Given the description of an element on the screen output the (x, y) to click on. 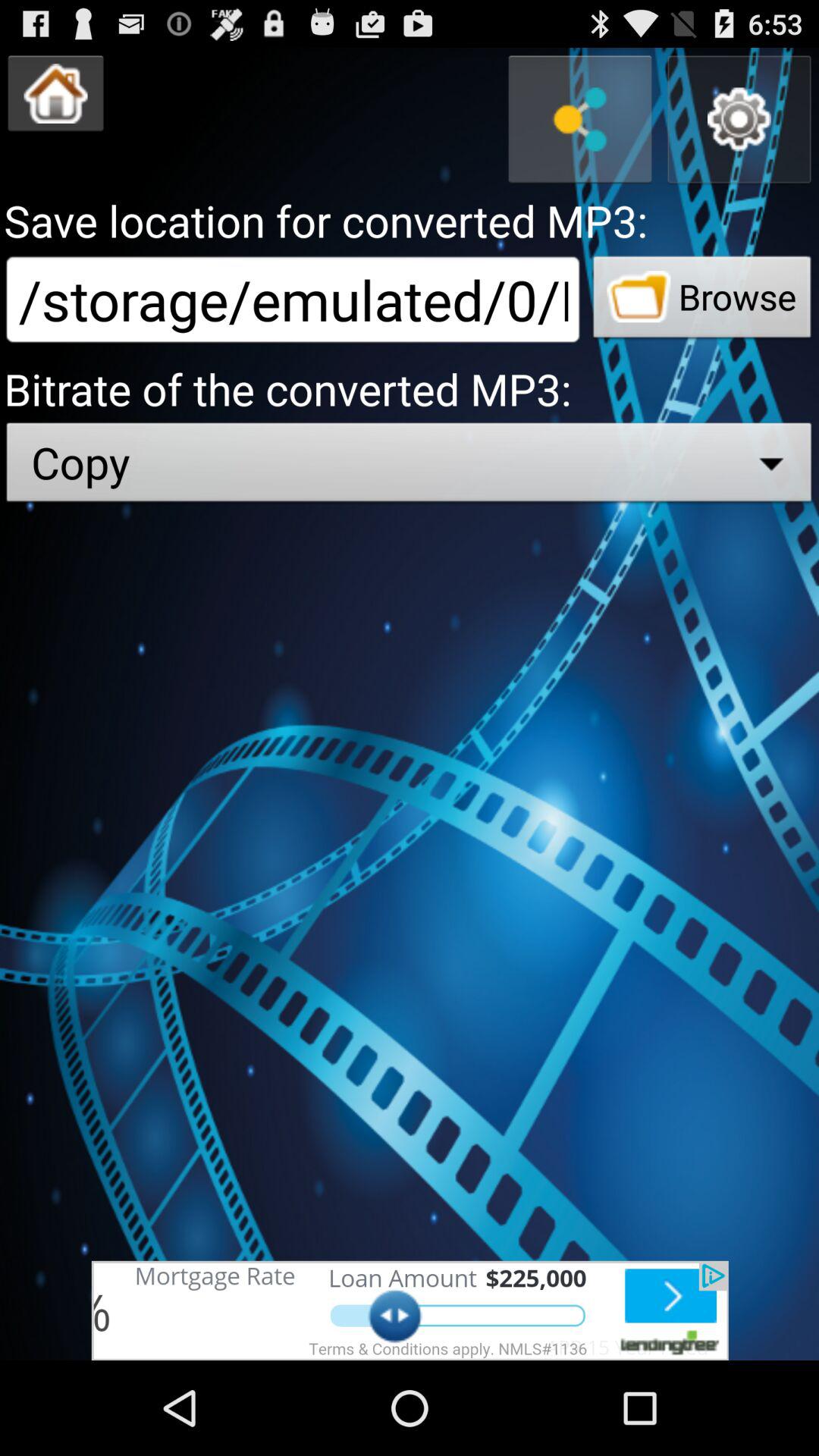
parameter button (739, 119)
